Given the description of an element on the screen output the (x, y) to click on. 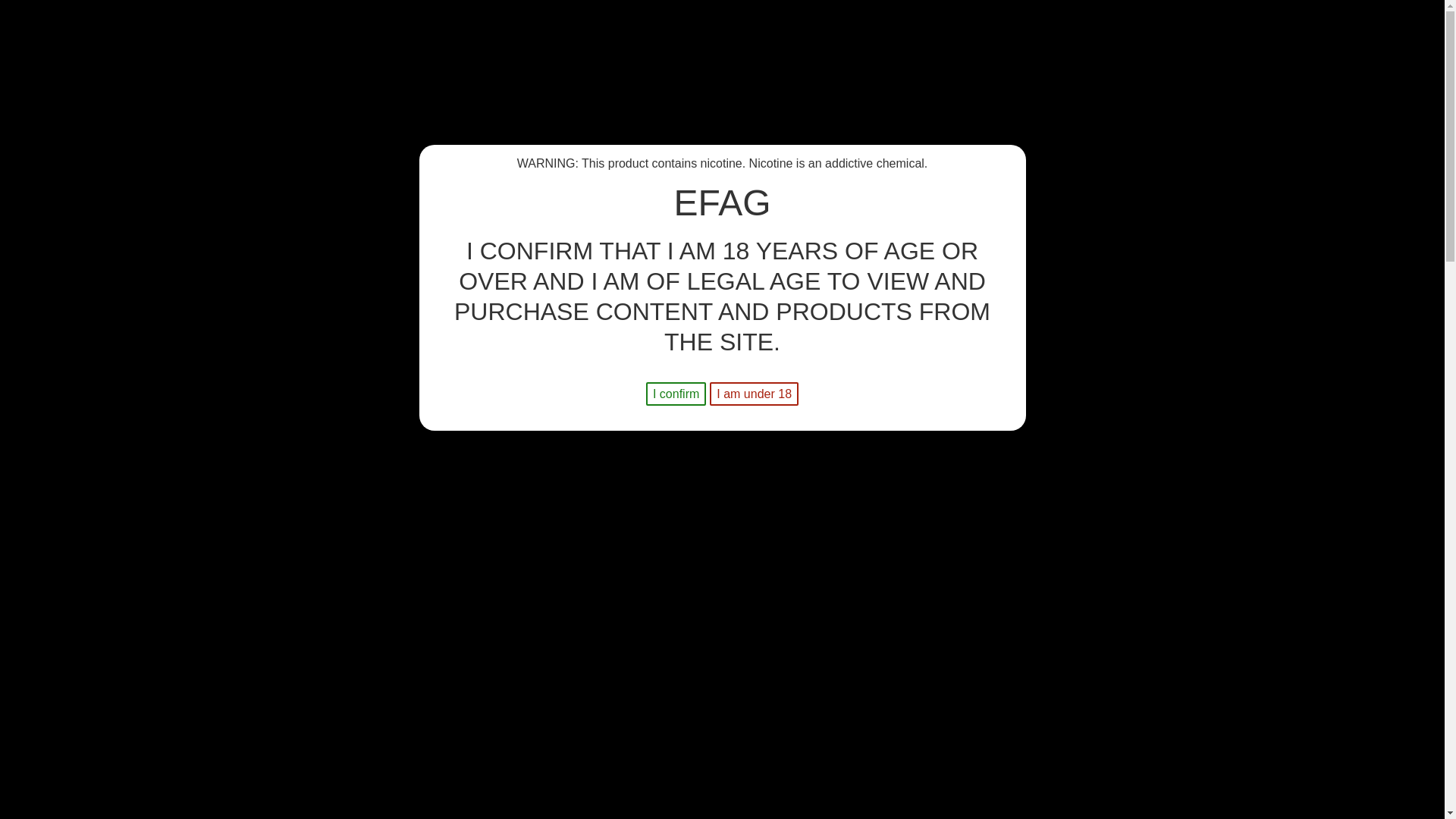
Mango Anarchist Shortfill E Liquid 100ml (441, 346)
E LIQUID (245, 152)
I confirm (676, 393)
Sign in (1211, 104)
Log in to your customer account (1211, 104)
1 (756, 425)
0876324849 (416, 90)
I am under 18 (753, 393)
